Given the description of an element on the screen output the (x, y) to click on. 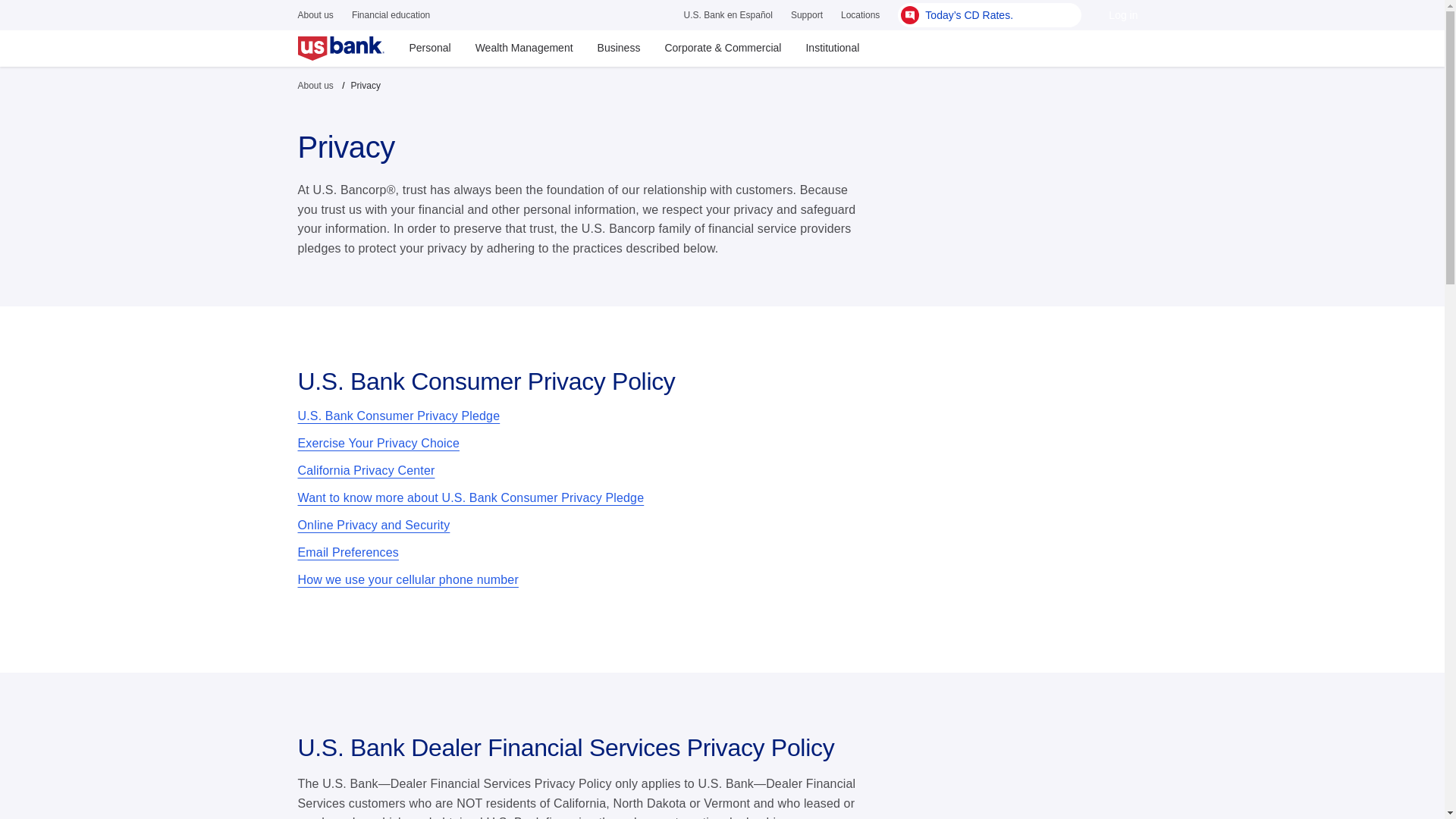
Log in (1123, 15)
Online Privacy and Security (373, 525)
Business (618, 48)
Email Preferences (347, 552)
How we use your cellular phone number (407, 580)
Wealth Management (524, 48)
Financial education (390, 14)
Support (806, 14)
Personal (429, 48)
Institutional (831, 48)
Want to know more about U.S. Bank Consumer Privacy Pledge (470, 498)
Locations (860, 14)
About us (315, 14)
Exercise Your Privacy Choice (377, 443)
About us (315, 85)
